Given the description of an element on the screen output the (x, y) to click on. 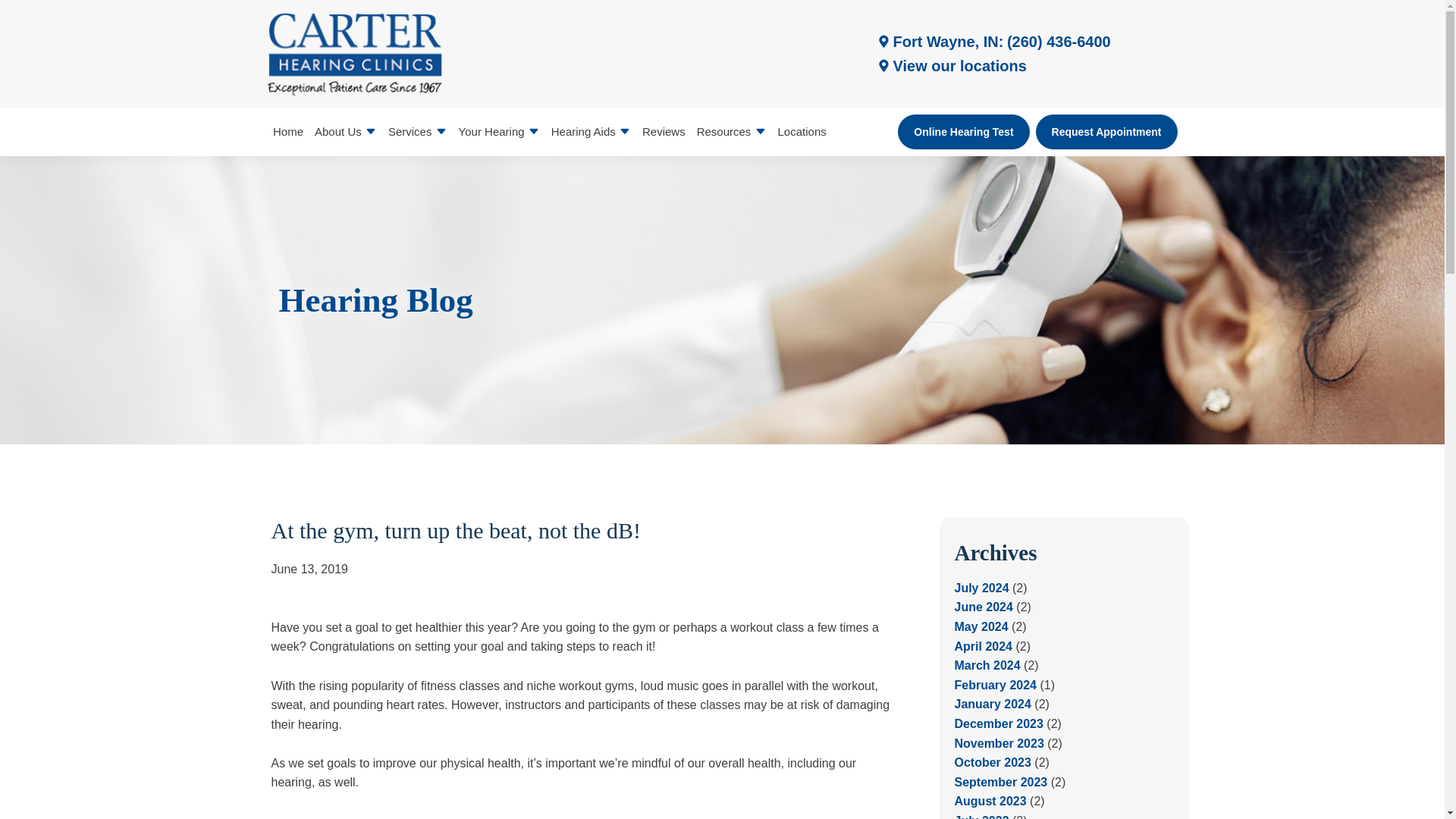
Services (416, 132)
Hearing Aids (590, 132)
View our locations (950, 65)
Your Hearing (498, 132)
About Us (345, 132)
Resources (730, 132)
Fort Wayne, IN: (939, 41)
Reviews (663, 132)
